Given the description of an element on the screen output the (x, y) to click on. 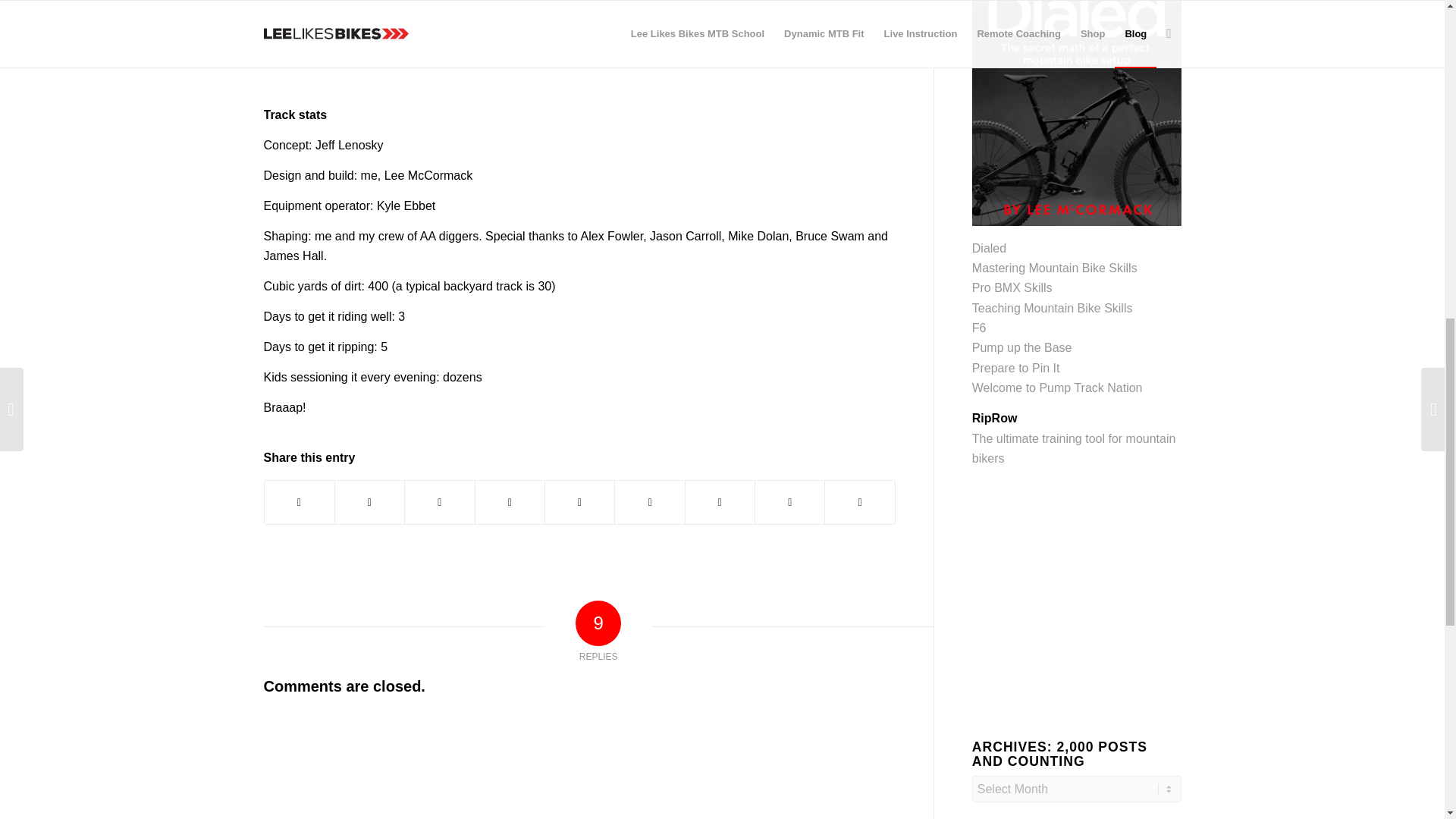
Mastering Mountain Bike Skills (1054, 267)
Pro BMX Skills (1012, 287)
F6 (979, 327)
Pump up the Base (1021, 347)
Teaching Mountain Bike Skills (1052, 308)
Dialed (989, 246)
